Given the description of an element on the screen output the (x, y) to click on. 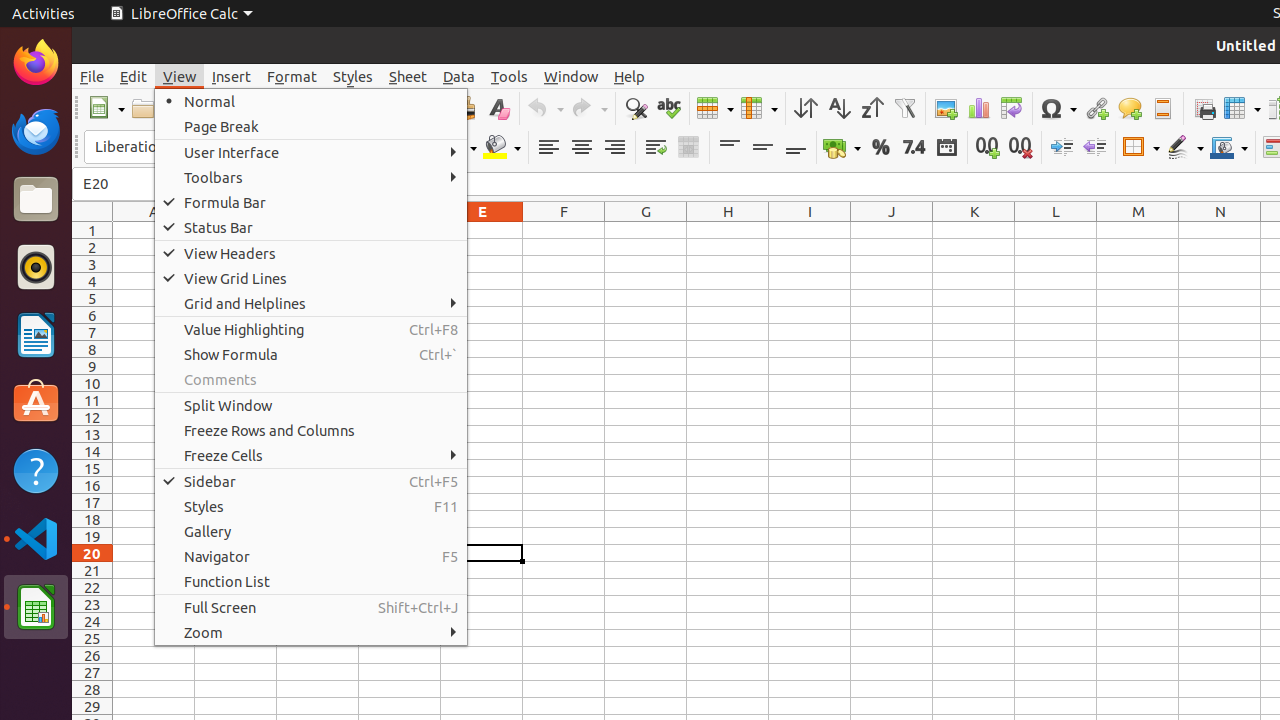
Border Color Element type: push-button (1229, 147)
Align Center Element type: push-button (581, 147)
Rhythmbox Element type: push-button (36, 267)
C1 Element type: table-cell (318, 230)
Symbol Element type: push-button (1058, 108)
